Given the description of an element on the screen output the (x, y) to click on. 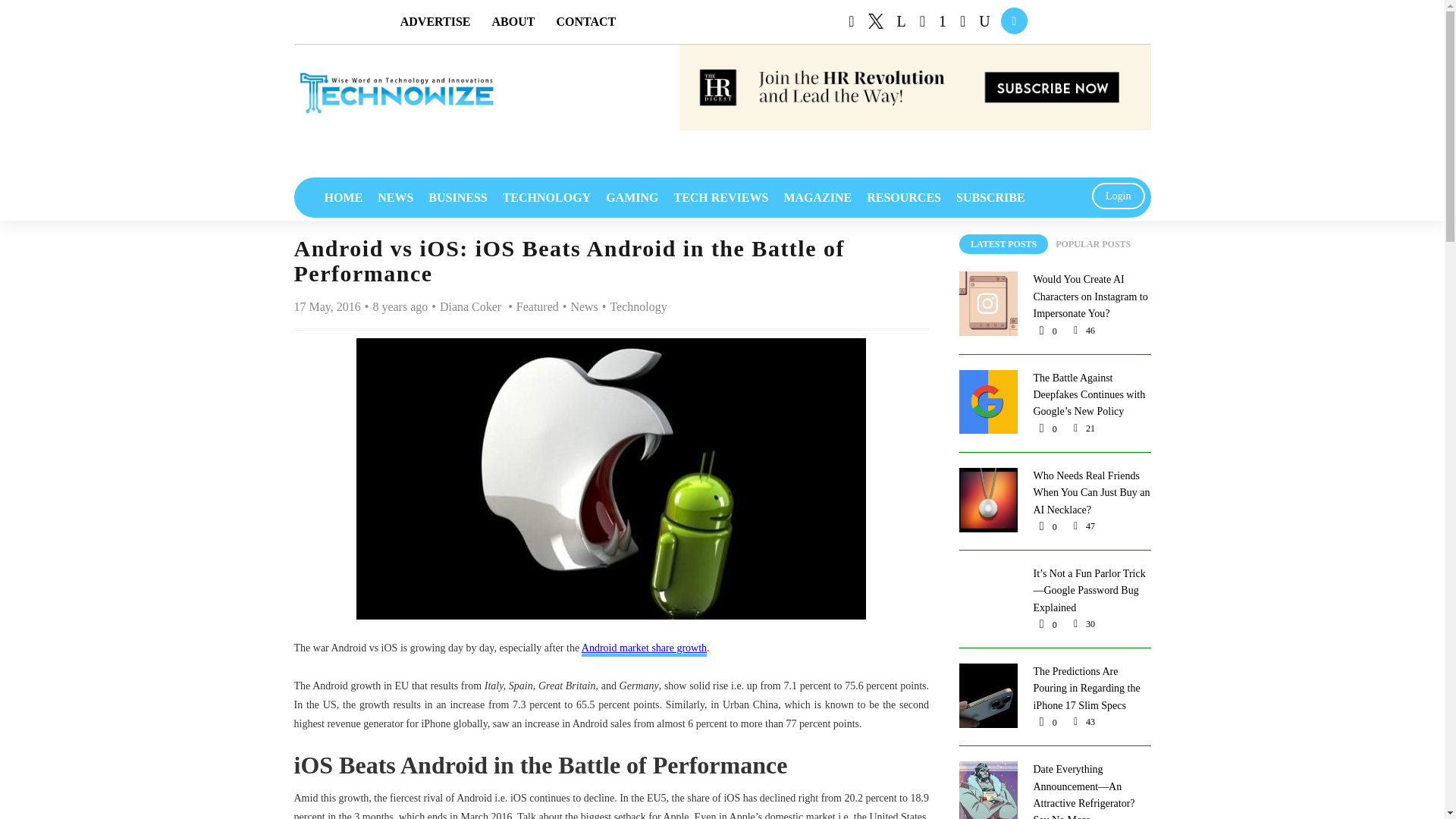
ADVERTISE (435, 21)
Technowize (396, 92)
ABOUT (513, 21)
HOME (344, 197)
CONTACT (585, 21)
